Given the description of an element on the screen output the (x, y) to click on. 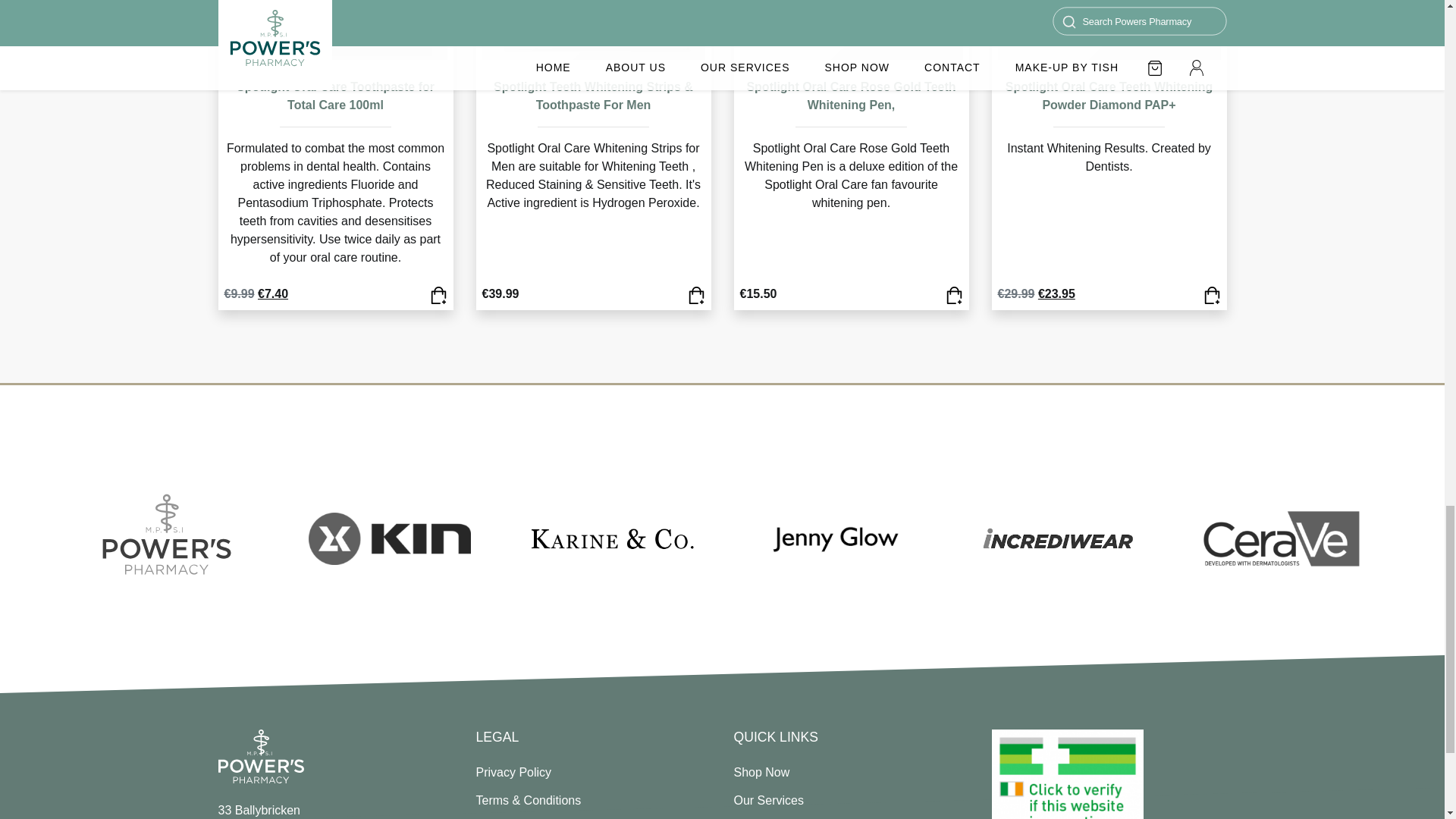
Shop Spotlight Oral Care Toothpaste for Total Care 100ml (335, 95)
Shop Spotlight Oral Care Toothpaste for Total Care 100ml (437, 293)
Shop Spotlight Oral Care Rose Gold Teeth Whitening Pen, (953, 293)
Shop Spotlight Oral Care Rose Gold Teeth Whitening Pen, (850, 95)
